Given the description of an element on the screen output the (x, y) to click on. 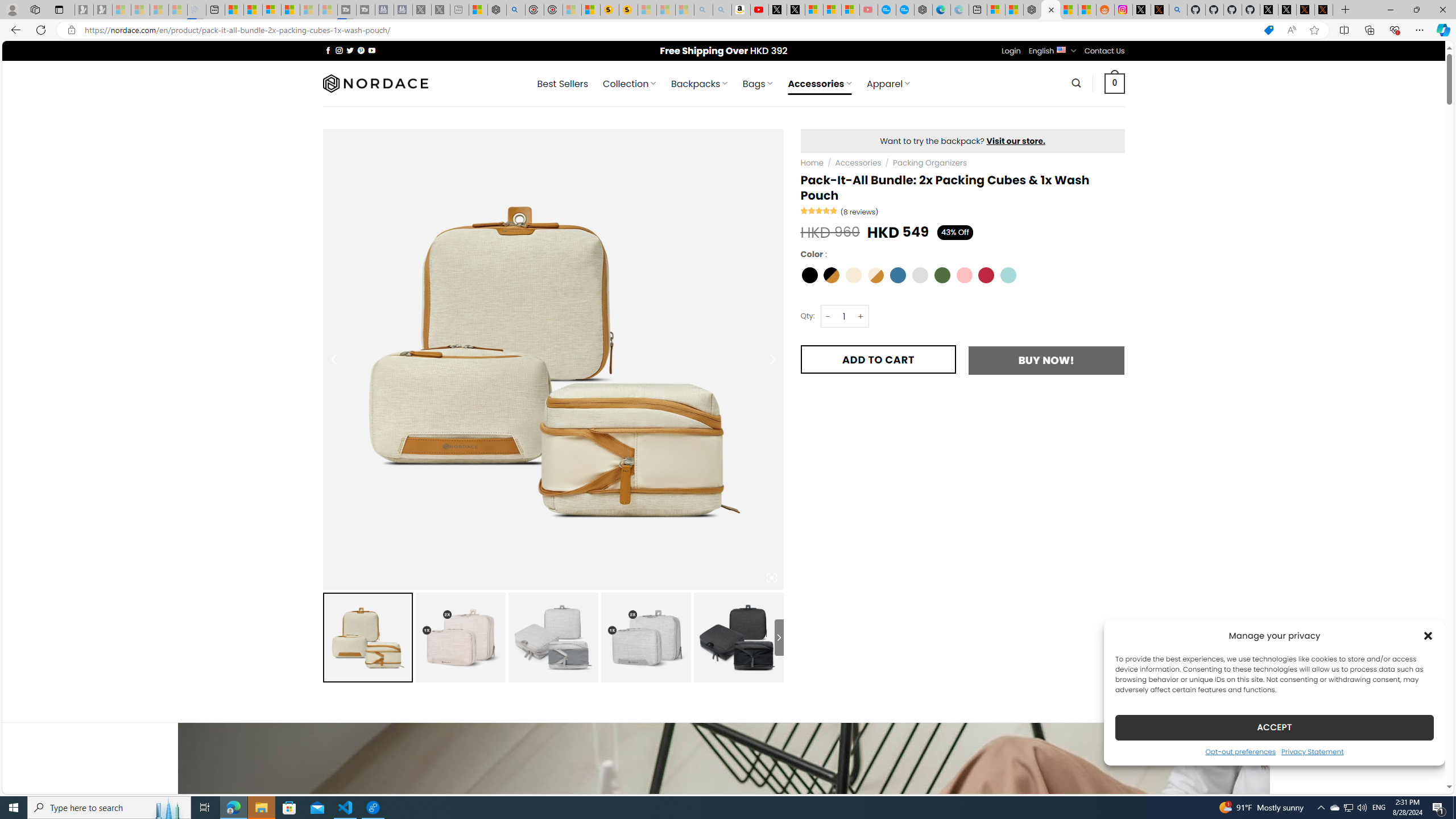
Amazon Echo Dot PNG - Search Images - Sleeping (721, 9)
  Best Sellers (562, 83)
help.x.com | 524: A timeout occurred (1159, 9)
New tab - Sleeping (459, 9)
Class: cmplz-close (1428, 635)
 0  (1115, 83)
Log in to X / X (1142, 9)
(8 reviews) (859, 211)
Profile / X (1268, 9)
